Given the description of an element on the screen output the (x, y) to click on. 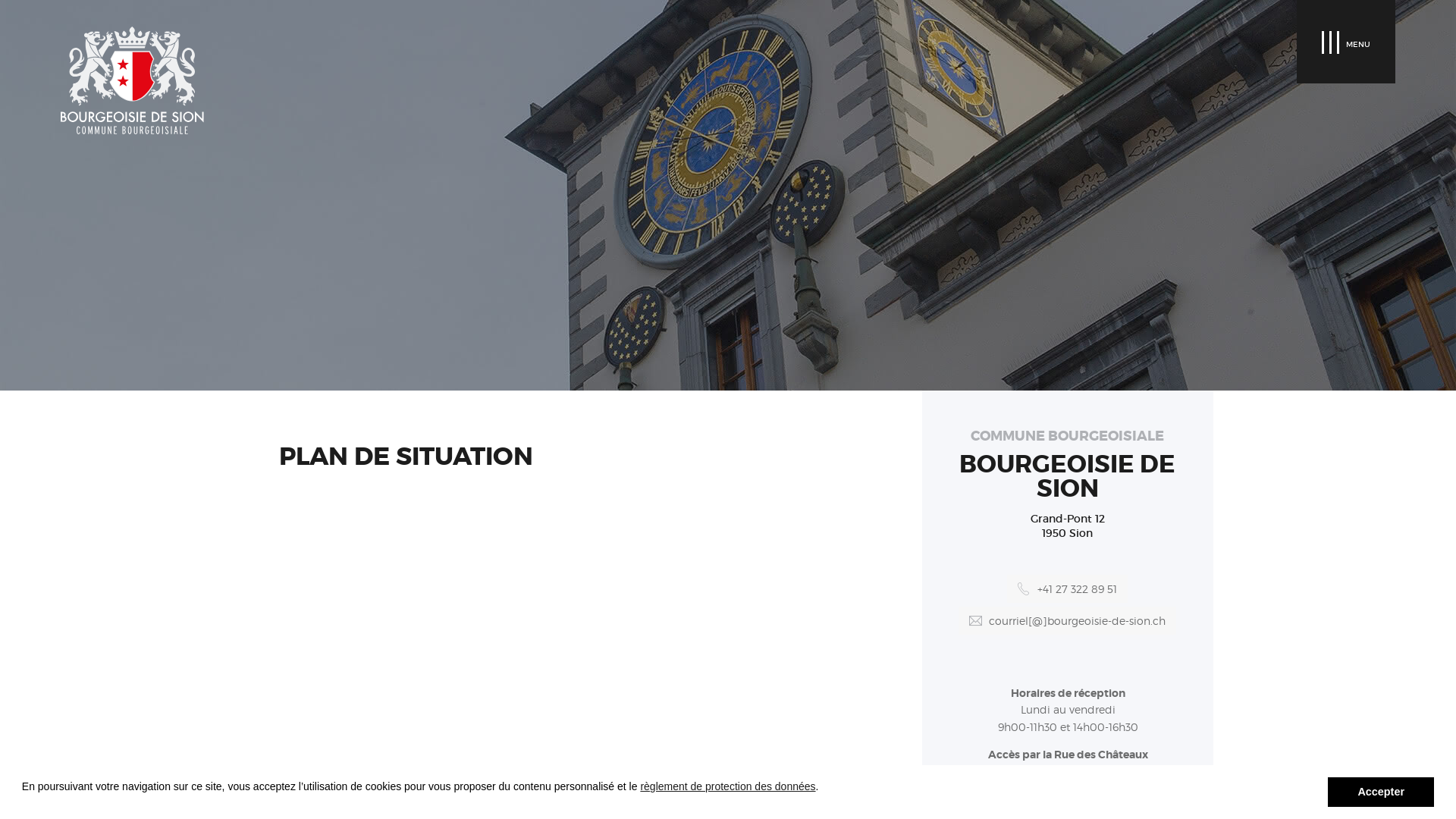
Accepter Element type: text (1380, 791)
courriel[@]bourgeoisie-de-sion.ch Element type: text (1067, 620)
+41 27 322 89 51 Element type: text (1067, 588)
